Given the description of an element on the screen output the (x, y) to click on. 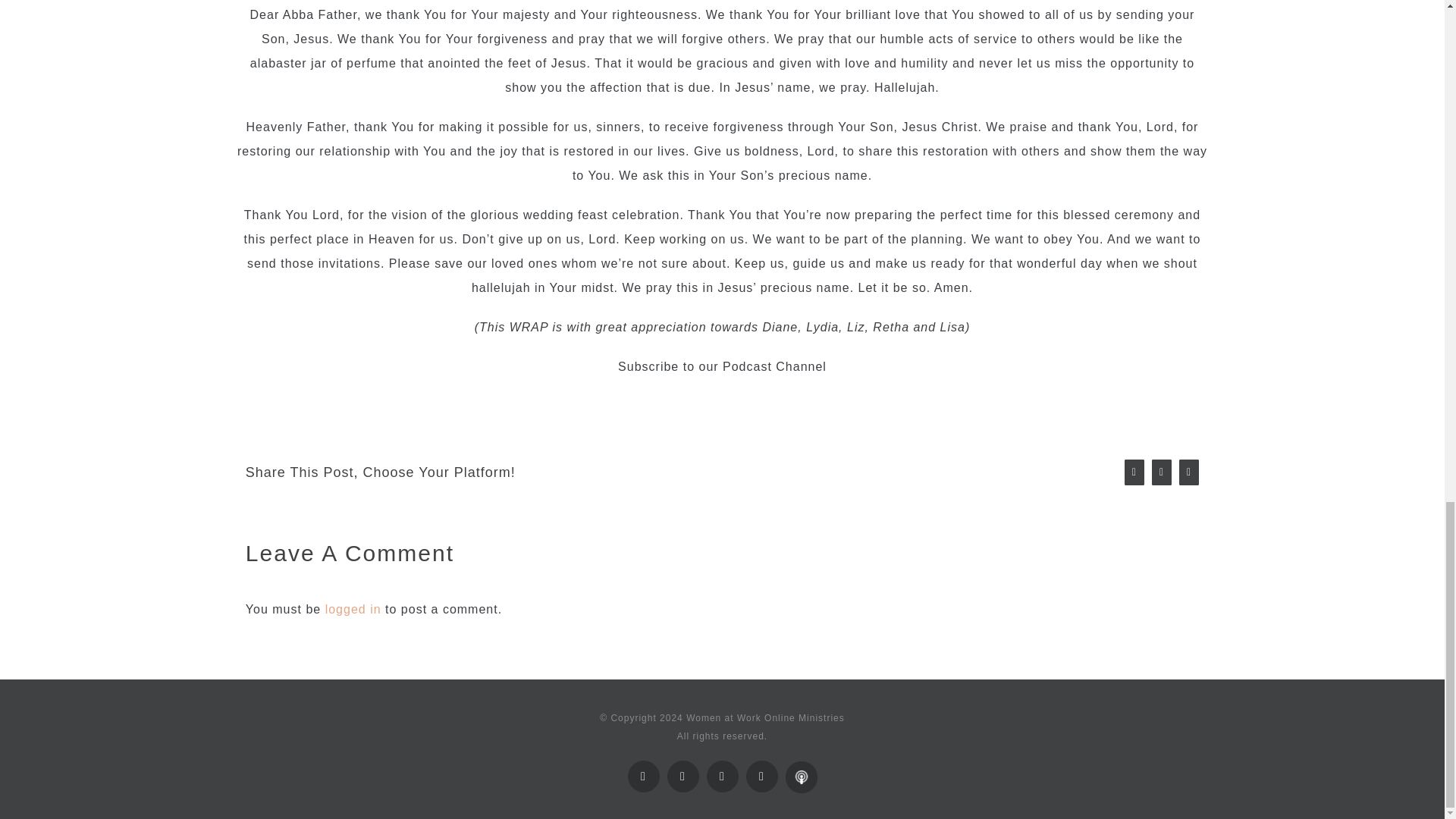
Email (722, 776)
Instagram (761, 776)
ITunes Podcasts (801, 765)
ITunes Podcasts (801, 765)
YouTube (682, 776)
logged in (352, 608)
Facebook (643, 776)
Email (722, 776)
Instagram (761, 776)
YouTube (682, 776)
